Given the description of an element on the screen output the (x, y) to click on. 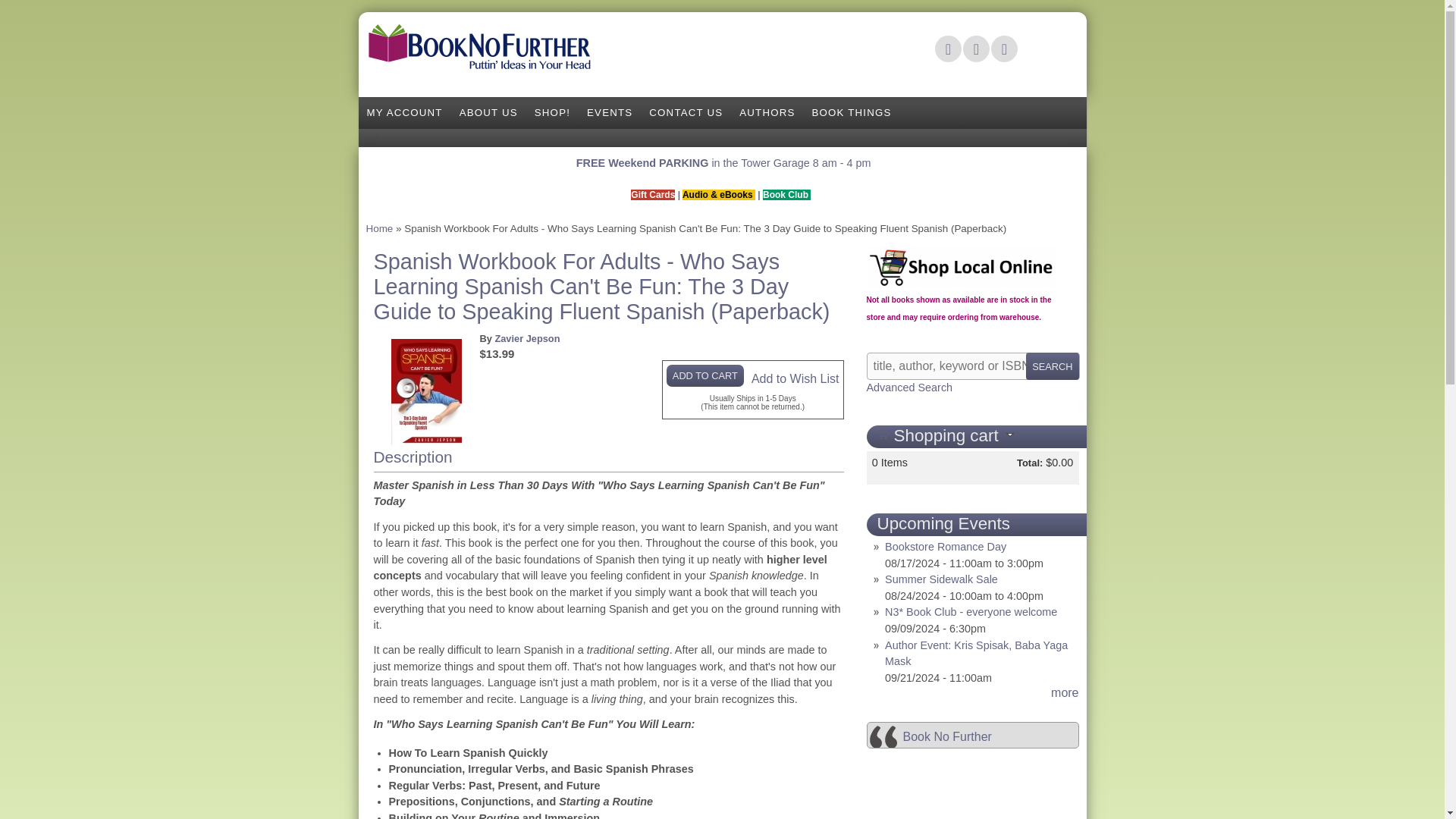
Enter the terms you wish to search for. (972, 366)
Programs, services, ideas and lists (851, 112)
Search (1052, 366)
MY ACCOUNT (403, 112)
BOOK THINGS (851, 112)
EVENTS (609, 112)
SHOP! (551, 112)
Add to Cart (705, 375)
View your shopping cart. (882, 433)
ABOUT US (488, 112)
